Given the description of an element on the screen output the (x, y) to click on. 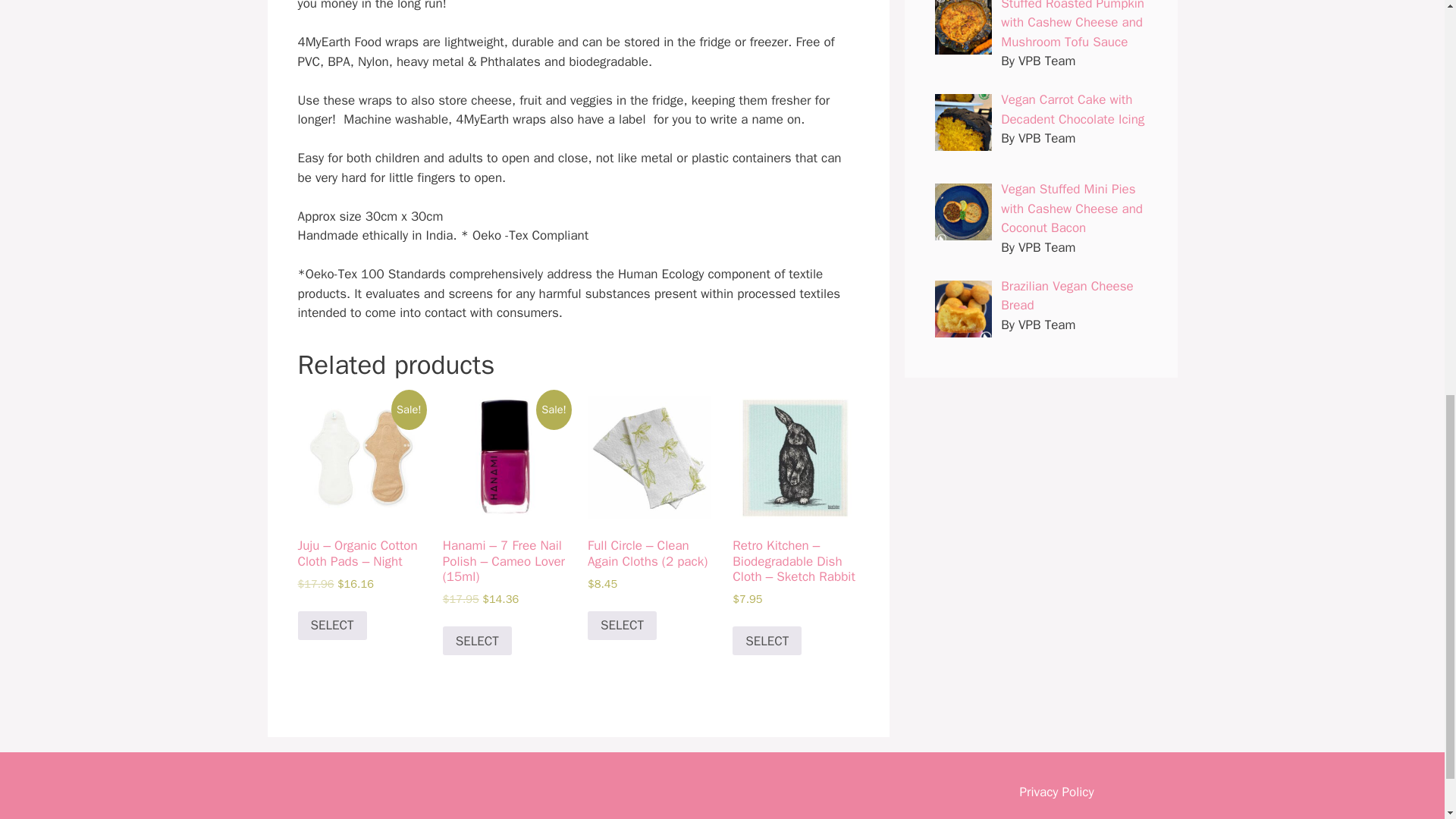
Vegan Carrot Cake with Decadent Chocolate Icing (1072, 109)
SELECT (477, 640)
Privacy Policy (1056, 791)
SELECT (331, 624)
SELECT (622, 624)
SELECT (767, 640)
Vegan Stuffed Mini Pies with Cashew Cheese and Coconut Bacon (1071, 207)
Brazilian Vegan Cheese Bread (1067, 295)
